Given the description of an element on the screen output the (x, y) to click on. 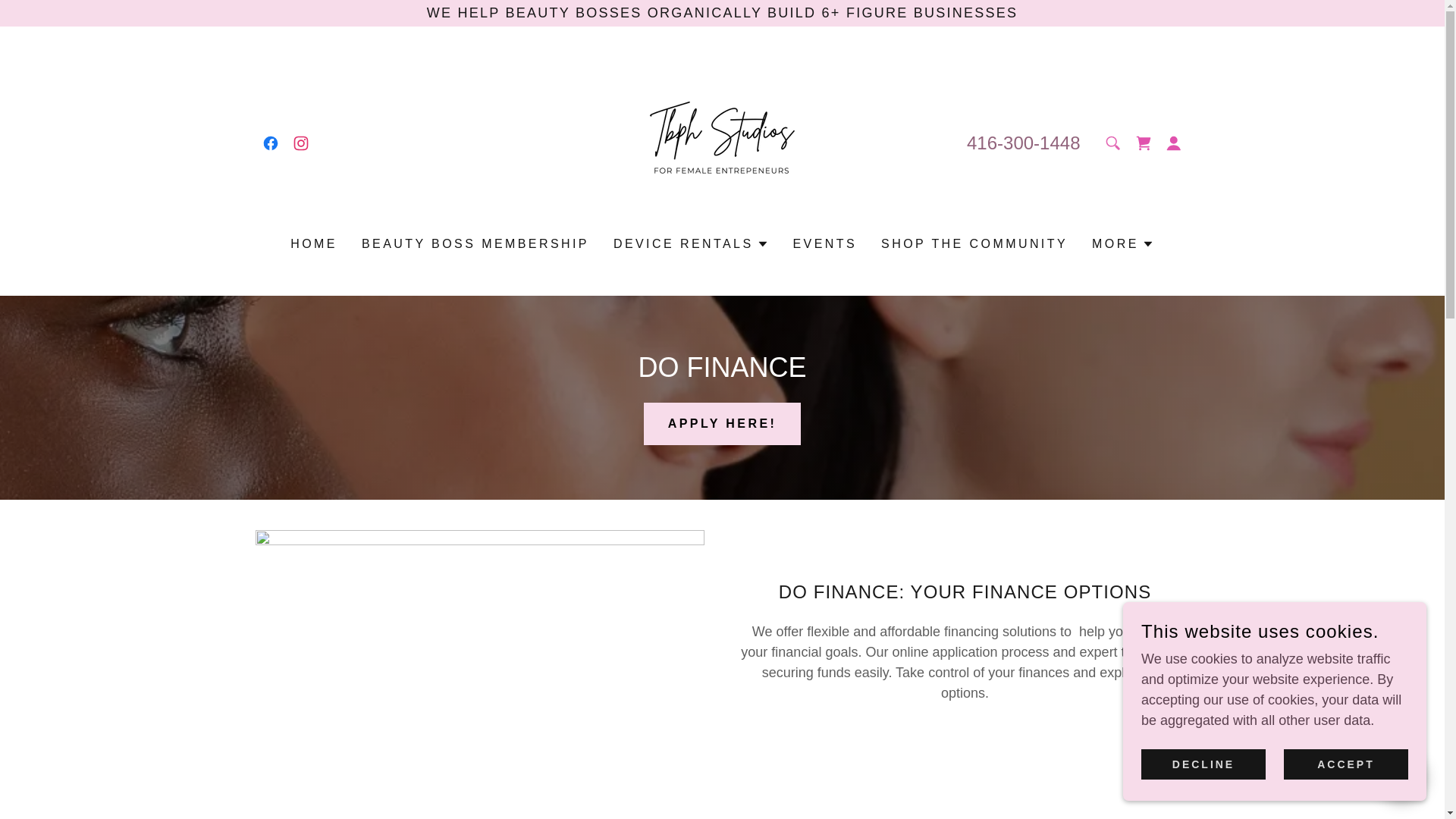
SHOP THE COMMUNITY (973, 243)
DEVICE RENTALS (690, 244)
BEAUTY BOSS MEMBERSHIP (475, 243)
HOME (313, 243)
EVENTS (825, 243)
416-300-1448 (1023, 141)
MORE (1123, 244)
